Given the description of an element on the screen output the (x, y) to click on. 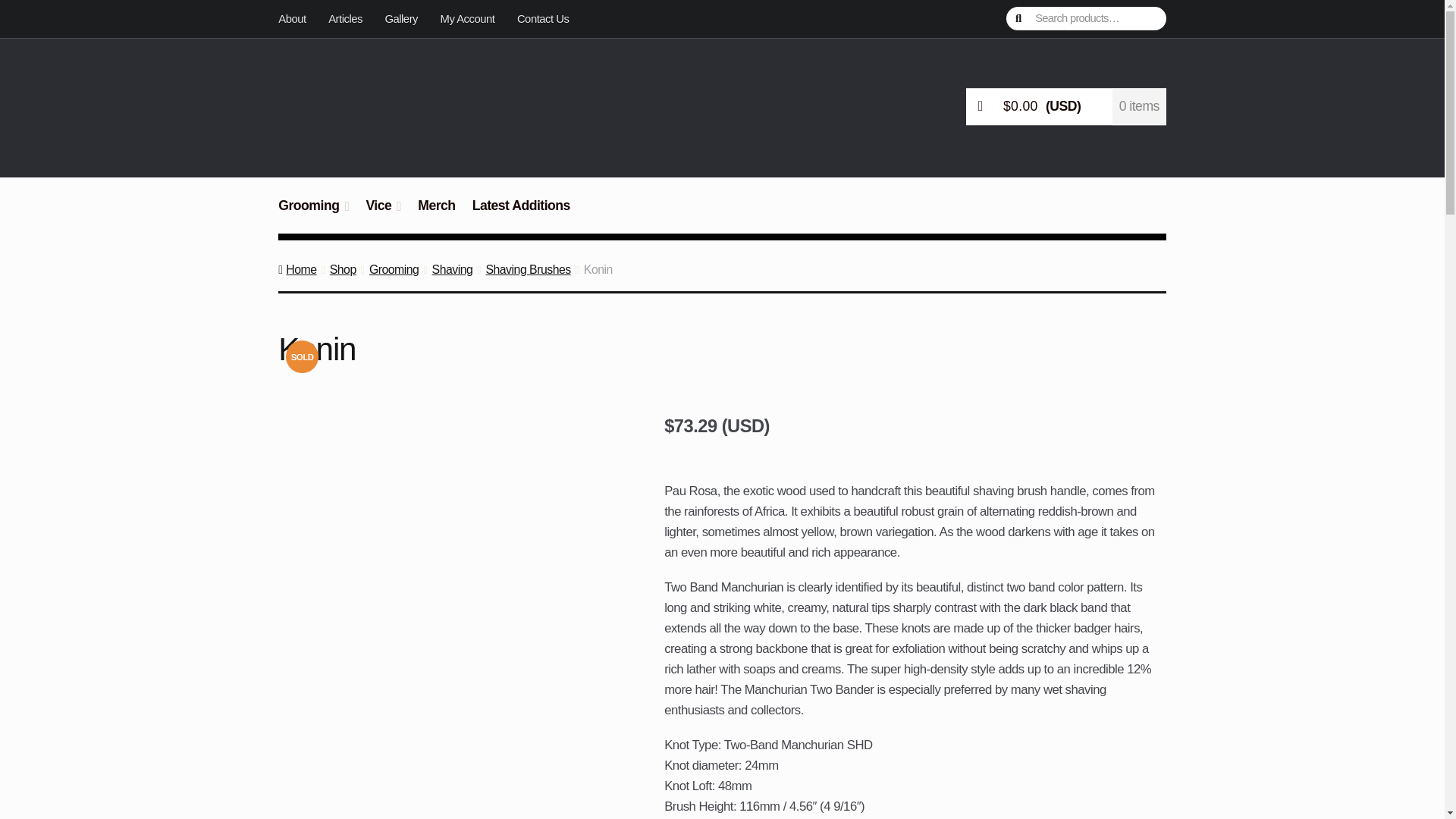
Gallery (401, 18)
Contact Us (542, 18)
Grooming (314, 213)
My Account (466, 18)
Vice (383, 213)
View your shopping cart (1066, 106)
Articles (344, 18)
About (296, 18)
Latest Additions (520, 213)
Merch (435, 213)
